Given the description of an element on the screen output the (x, y) to click on. 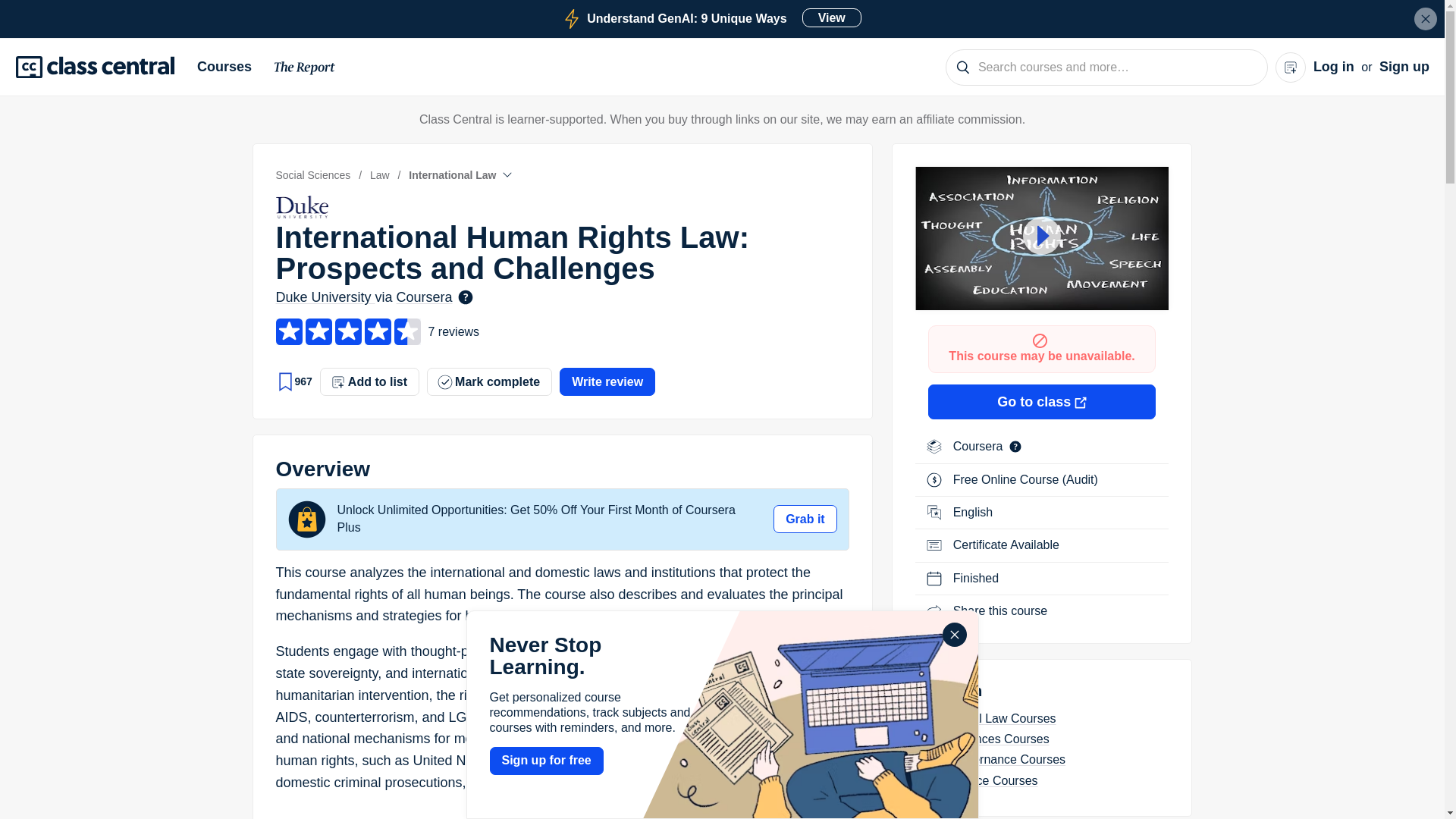
Close (1425, 18)
The Report (304, 69)
Courses (229, 66)
List of Coursera MOOCs (979, 445)
